Given the description of an element on the screen output the (x, y) to click on. 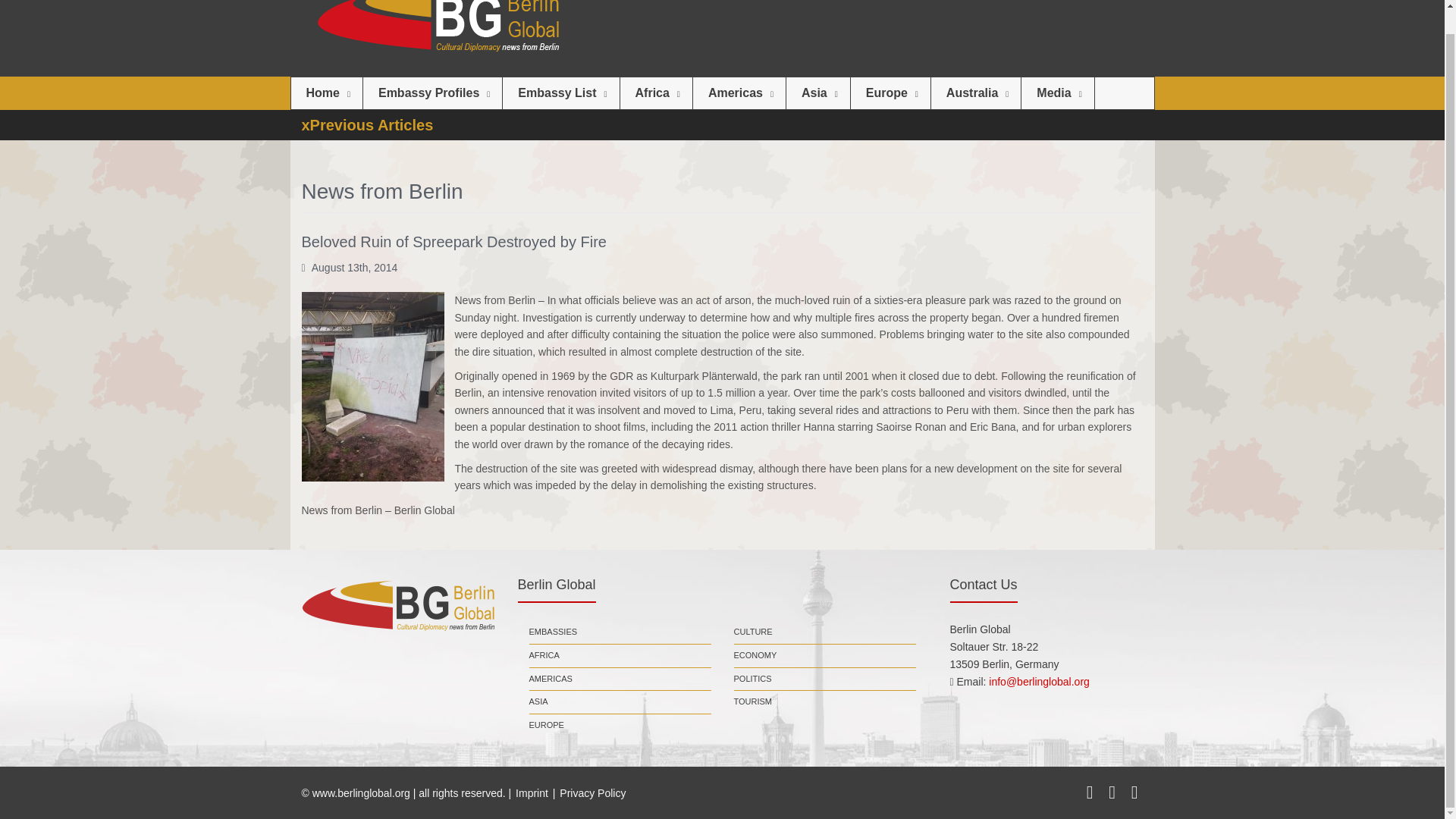
Europe (890, 92)
Australia (975, 92)
EMBASSIES (553, 631)
Asia (818, 92)
TOURISM (753, 702)
Embassy Profiles (432, 92)
Asia (818, 92)
Africa (656, 92)
EUROPE (546, 725)
Embassy Profiles (432, 92)
